Given the description of an element on the screen output the (x, y) to click on. 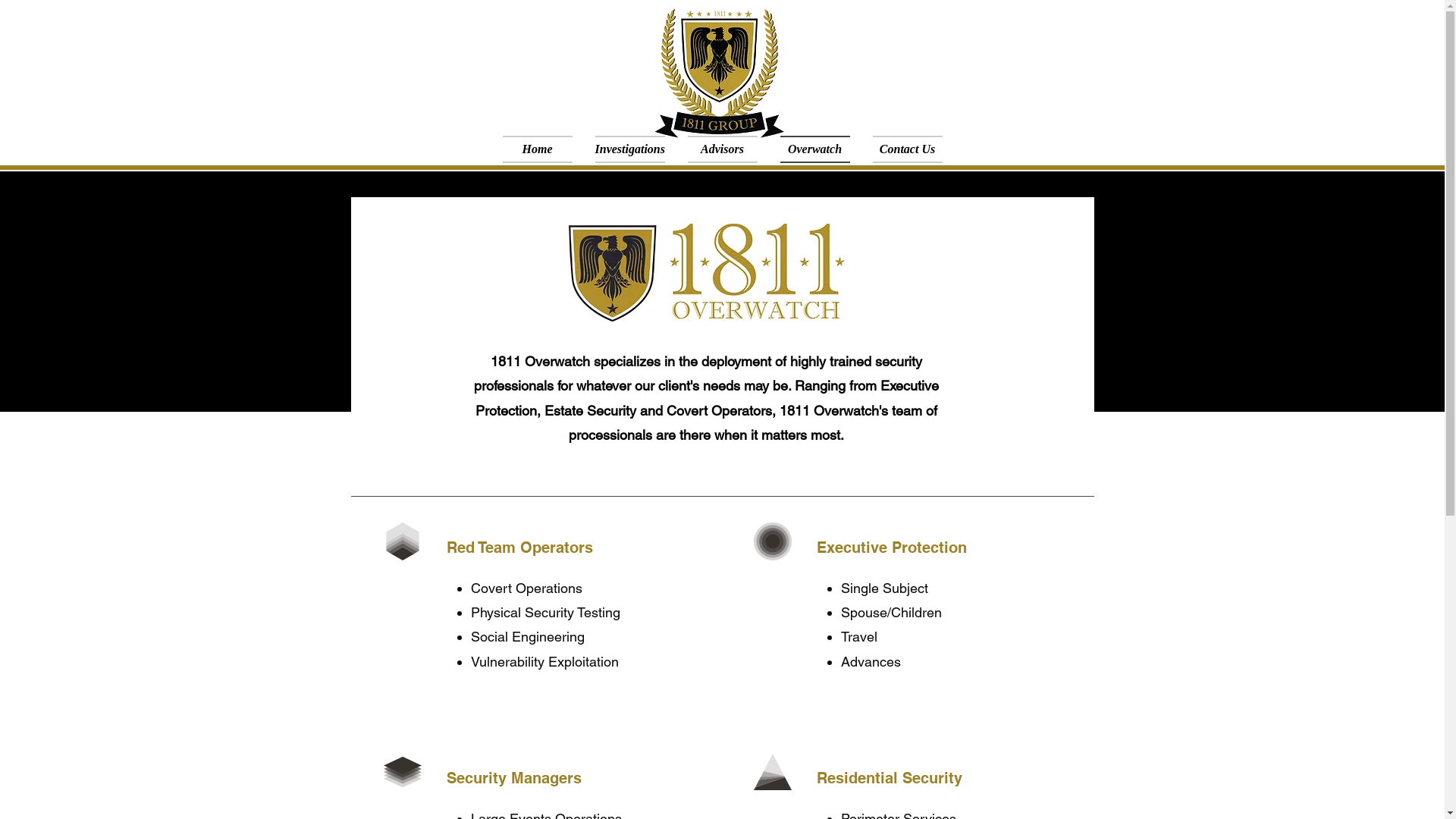
Investigations Element type: text (629, 149)
Contact Us Element type: text (907, 149)
Advisors Element type: text (722, 149)
Overwatch Element type: text (814, 149)
Home Element type: text (537, 149)
